Given the description of an element on the screen output the (x, y) to click on. 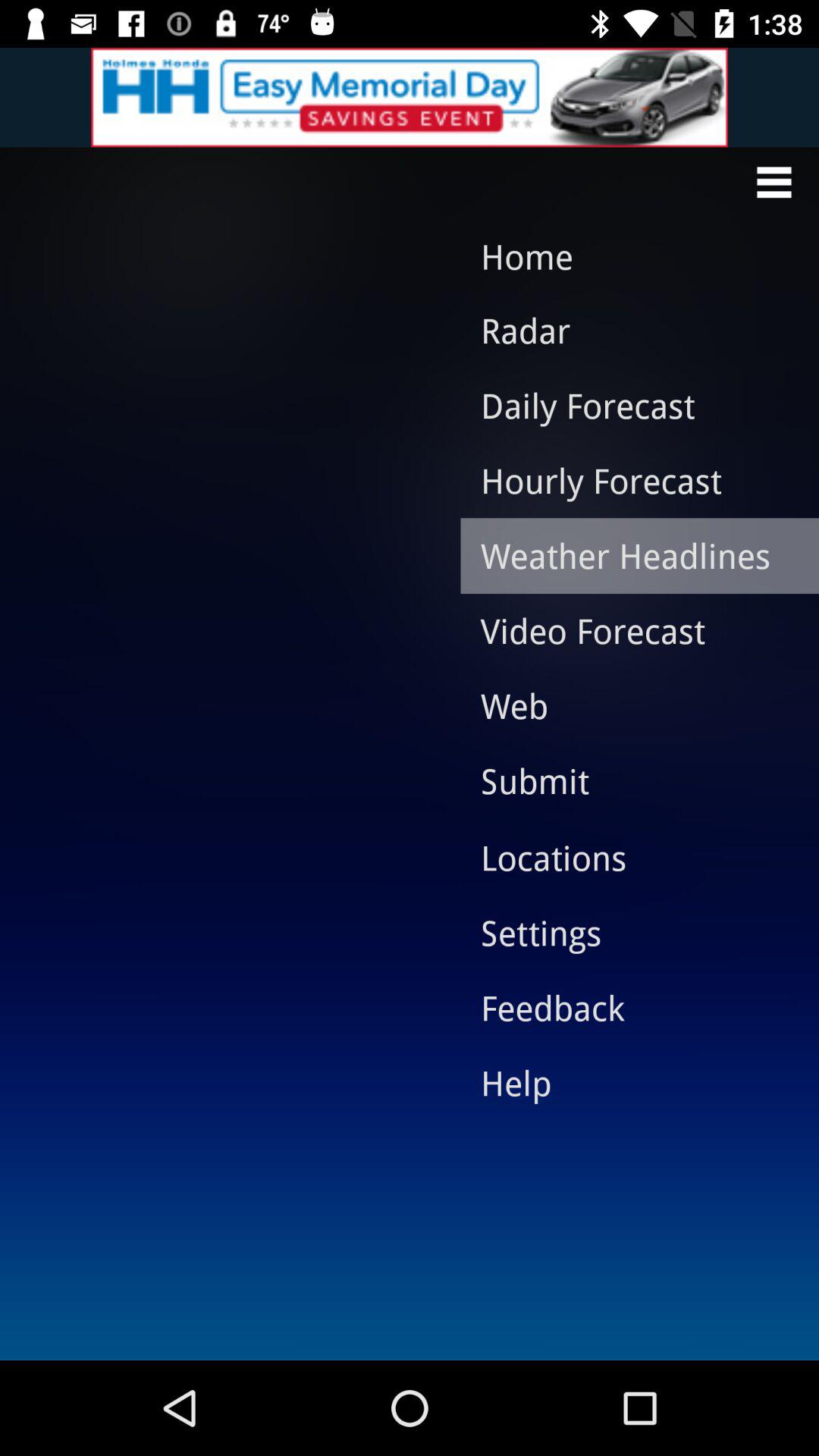
flip until daily forecast icon (627, 405)
